Given the description of an element on the screen output the (x, y) to click on. 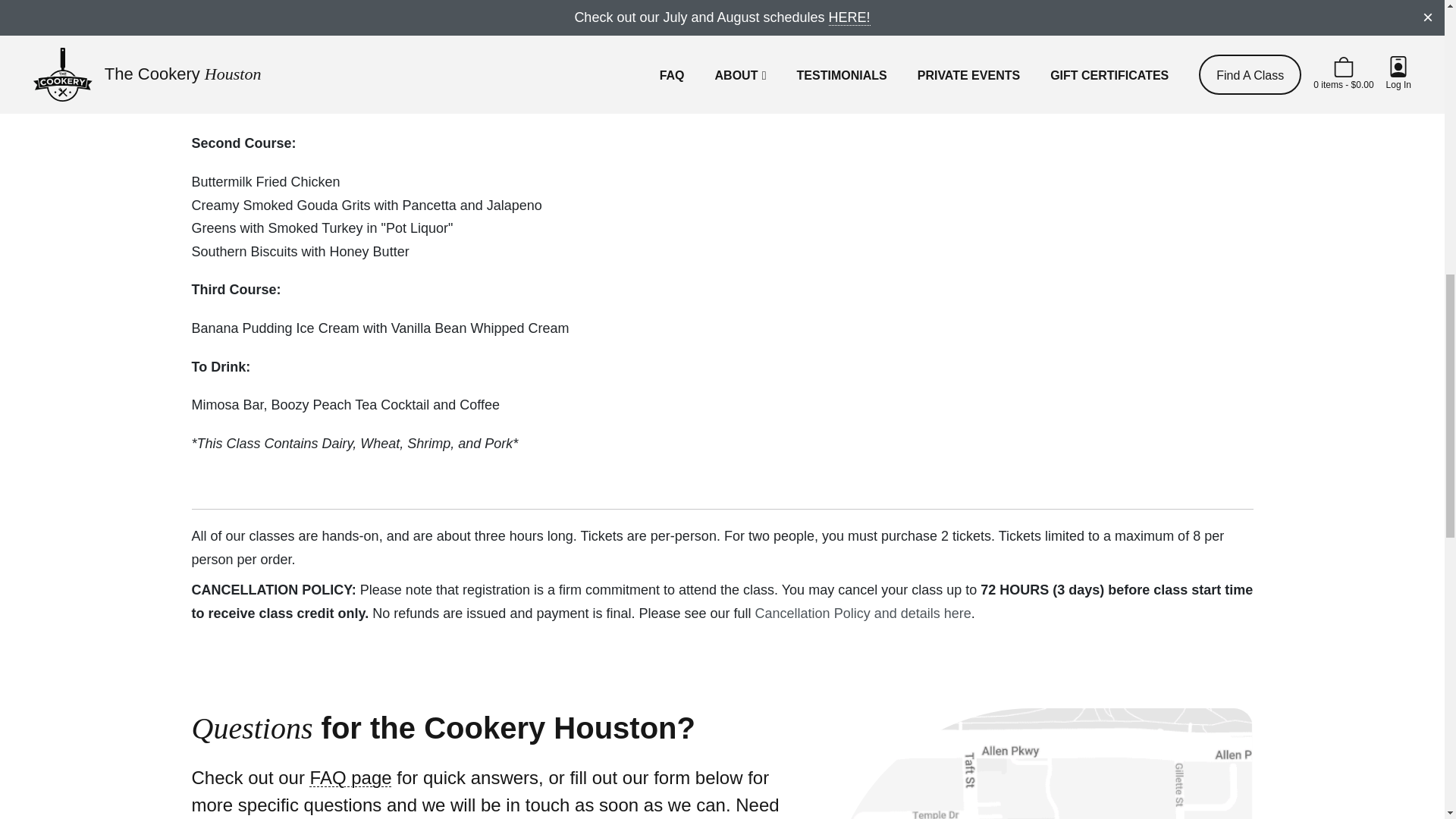
FAQ (350, 777)
